Given the description of an element on the screen output the (x, y) to click on. 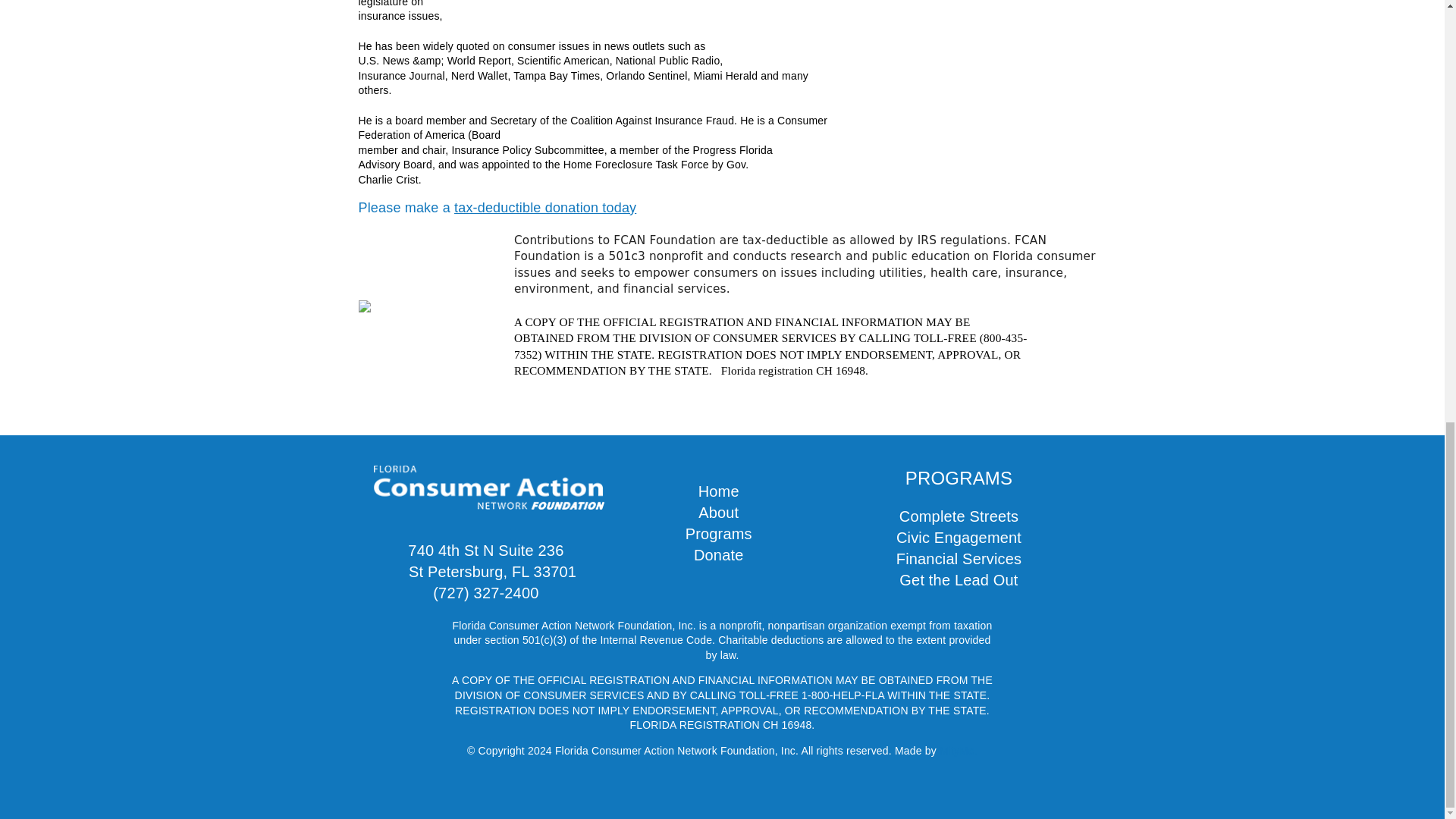
Home (718, 491)
tax-deductible donation today (545, 207)
About (718, 512)
